Given the description of an element on the screen output the (x, y) to click on. 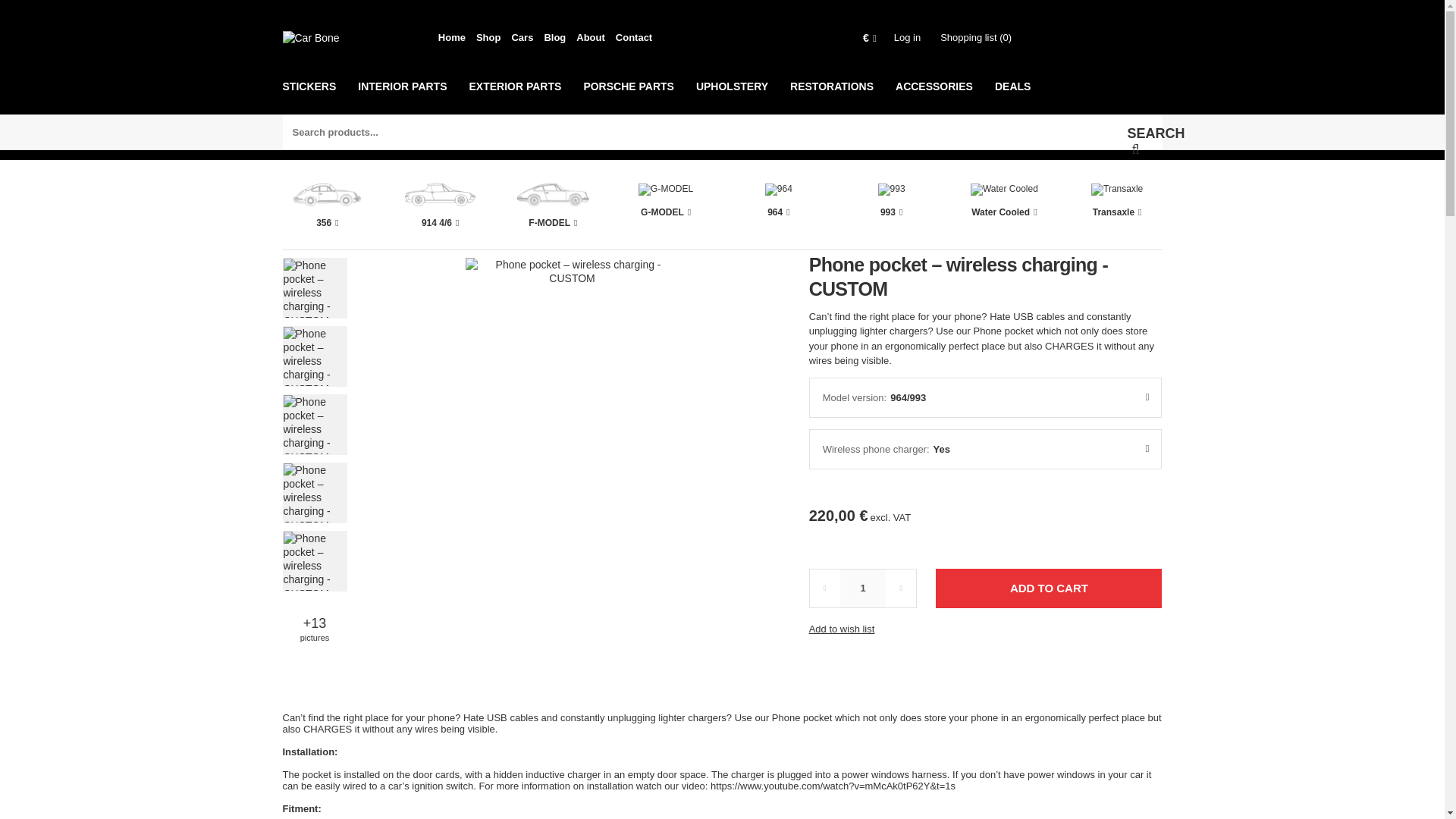
Exterior parts (518, 95)
F-MODEL (552, 210)
Stickers (312, 95)
Contact (634, 37)
Home (451, 37)
Upholstery (735, 95)
DEALS (1016, 95)
Home (451, 37)
Blog (554, 37)
Interior parts (405, 95)
